Given the description of an element on the screen output the (x, y) to click on. 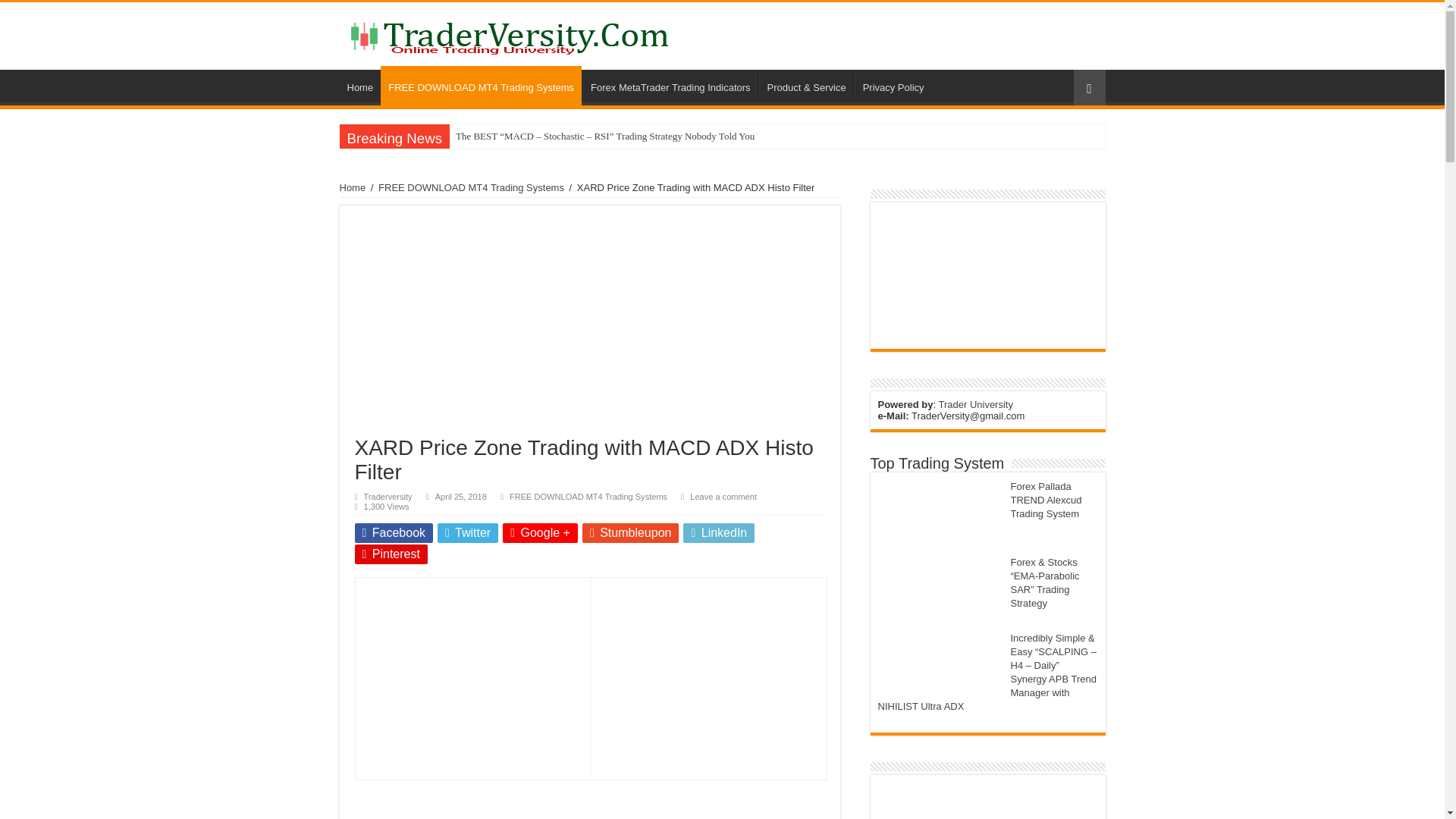
Forex Stocks Crypto Trading Strategy (509, 35)
FREE DOWNLOAD MT4 Trading Systems (480, 85)
FREE DOWNLOAD MT4 Trading Systems (471, 187)
Forex MetaTrader Trading Indicators (670, 85)
Home (360, 85)
Leave a comment (723, 496)
Twitter (467, 532)
LinkedIn (718, 532)
Facebook (394, 532)
Traderversity (388, 496)
